Given the description of an element on the screen output the (x, y) to click on. 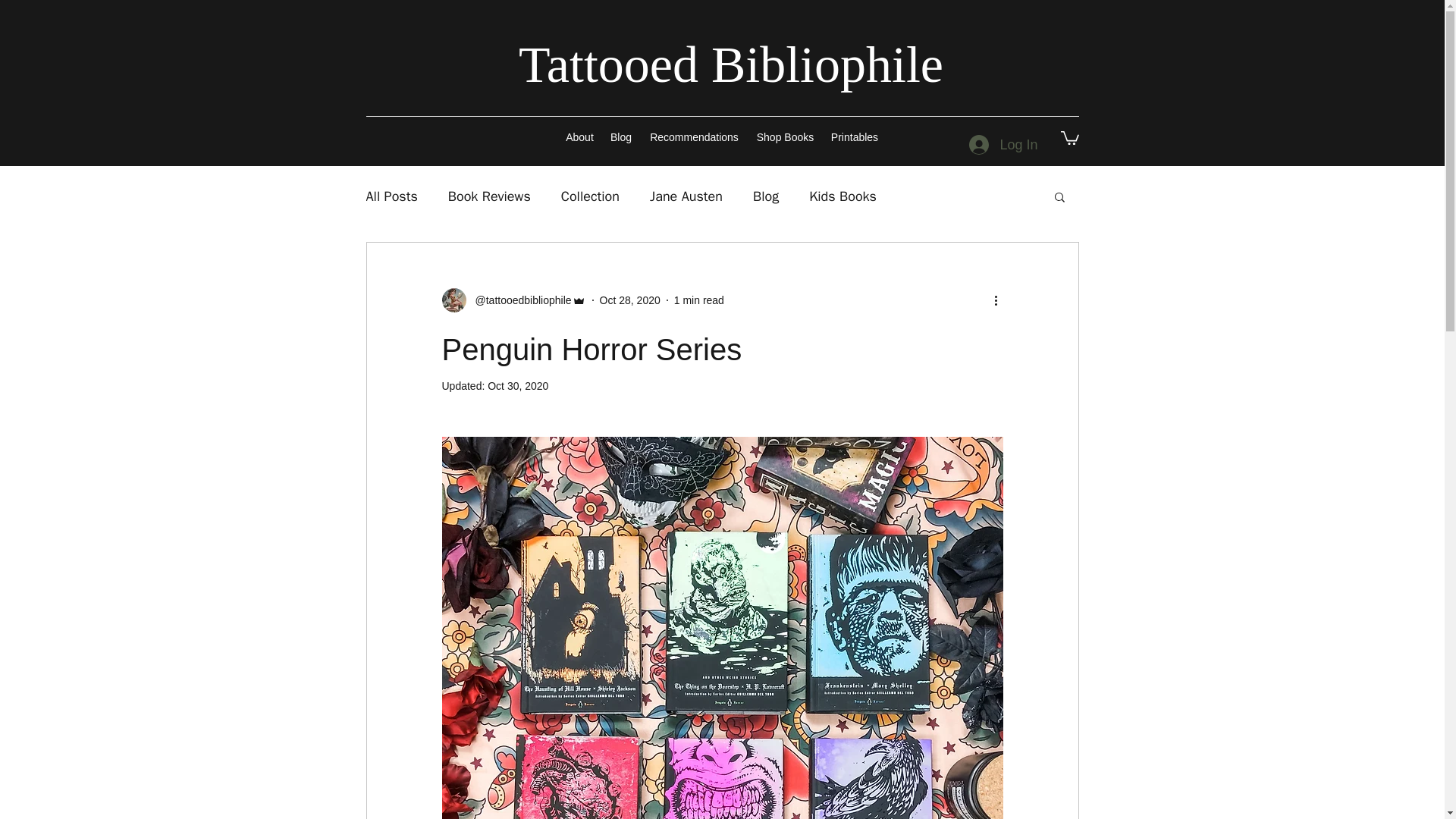
Blog (621, 137)
Kids Books (842, 196)
Blog (765, 196)
Oct 28, 2020 (630, 300)
Recommendations (694, 137)
1 min read (698, 300)
Shop Books (785, 137)
Log In (1003, 145)
Oct 30, 2020 (517, 386)
Book Reviews (489, 196)
About (579, 137)
Collection (590, 196)
Tattooed Bibliophile (730, 64)
All Posts (390, 196)
Printables (854, 137)
